Given the description of an element on the screen output the (x, y) to click on. 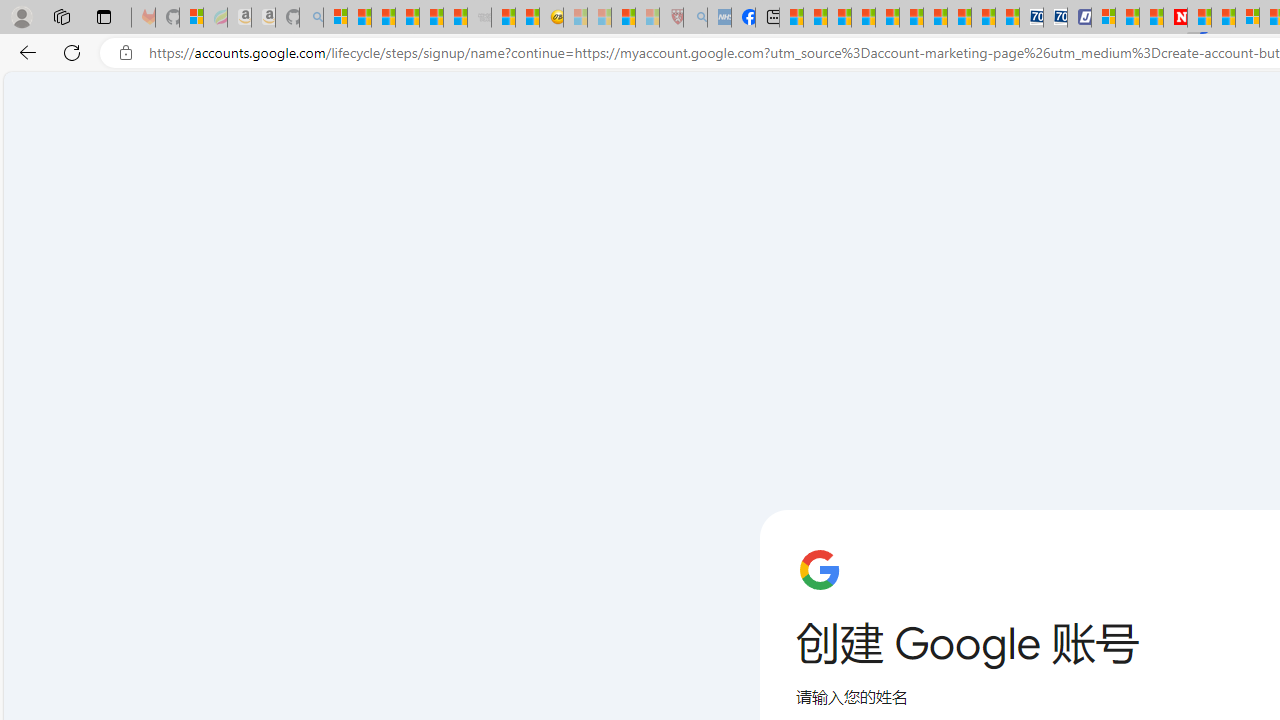
New Report Confirms 2023 Was Record Hot | Watch (430, 17)
